Given the description of an element on the screen output the (x, y) to click on. 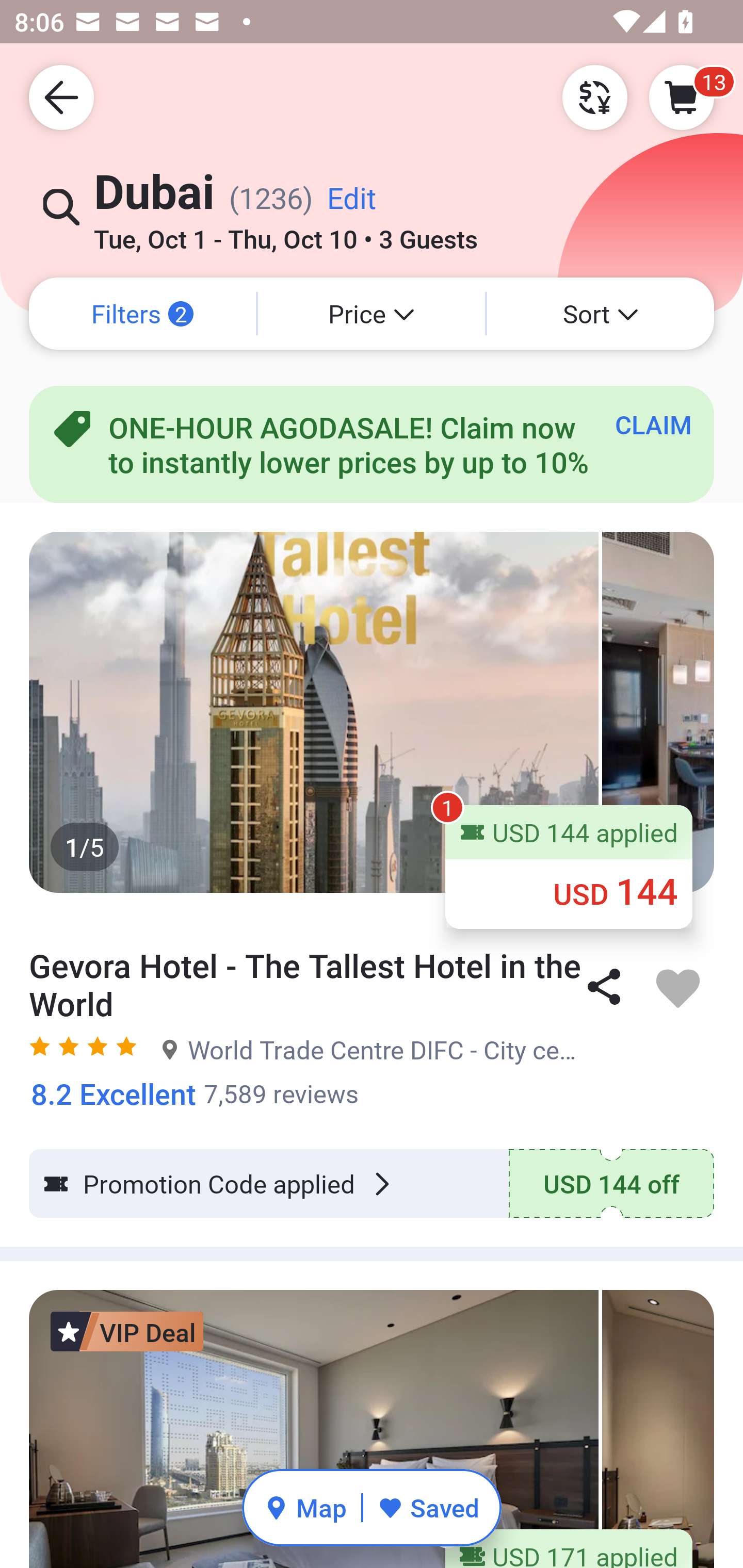
Filters 2 (141, 313)
Price (371, 313)
Sort (600, 313)
CLAIM (653, 424)
1/5 (371, 711)
USD 144 applied ‪USD 144 1 (568, 866)
Promotion Code applied USD 144 off (371, 1183)
VIP Deal (126, 1331)
Map (305, 1507)
Saved (428, 1507)
USD 171 applied (568, 1548)
